Given the description of an element on the screen output the (x, y) to click on. 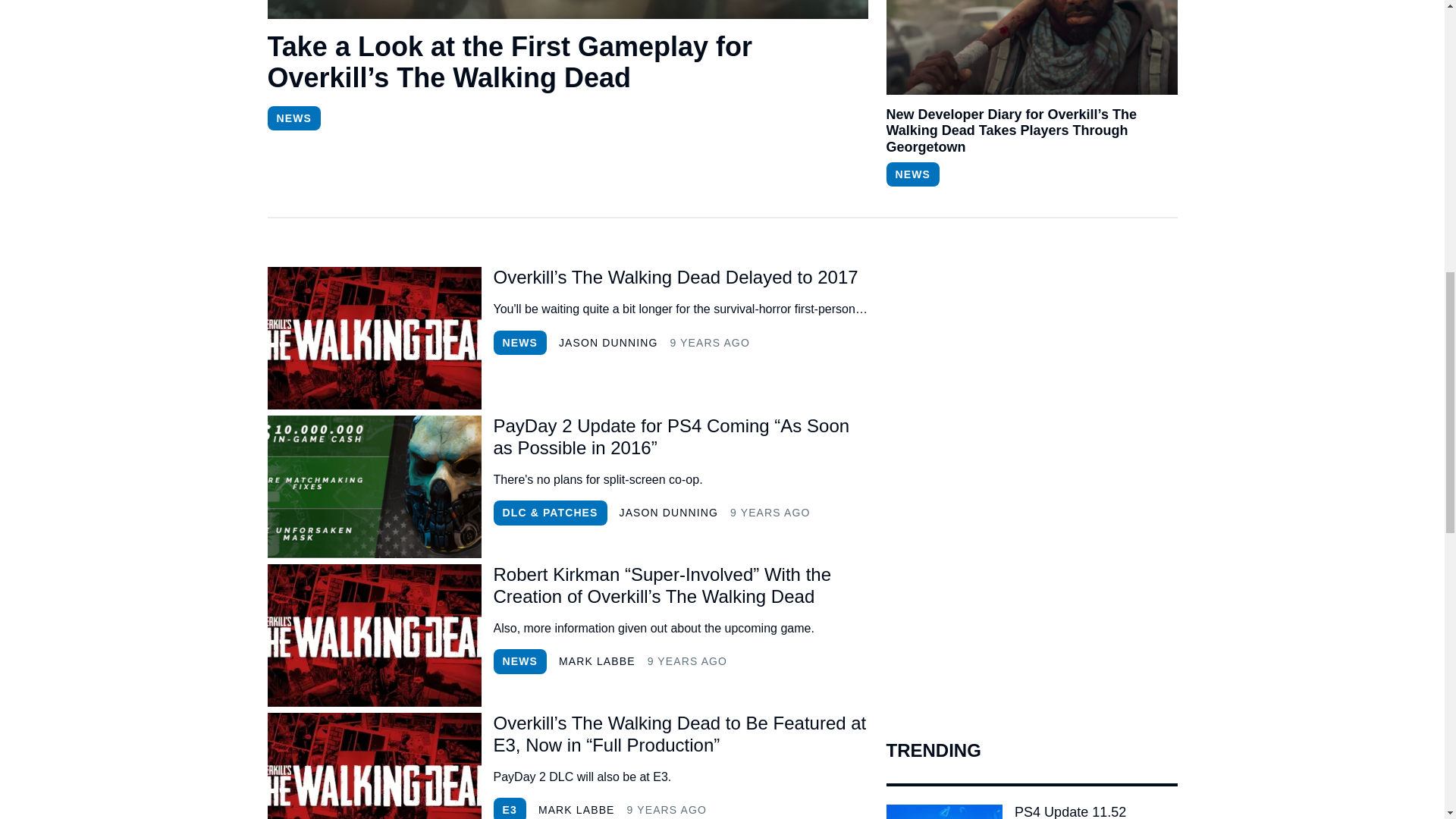
NEWS (519, 342)
E3 (509, 808)
MARK LABBE (596, 661)
NEWS (293, 118)
NEWS (519, 661)
NEWS (912, 174)
JASON DUNNING (608, 342)
JASON DUNNING (668, 512)
